Given the description of an element on the screen output the (x, y) to click on. 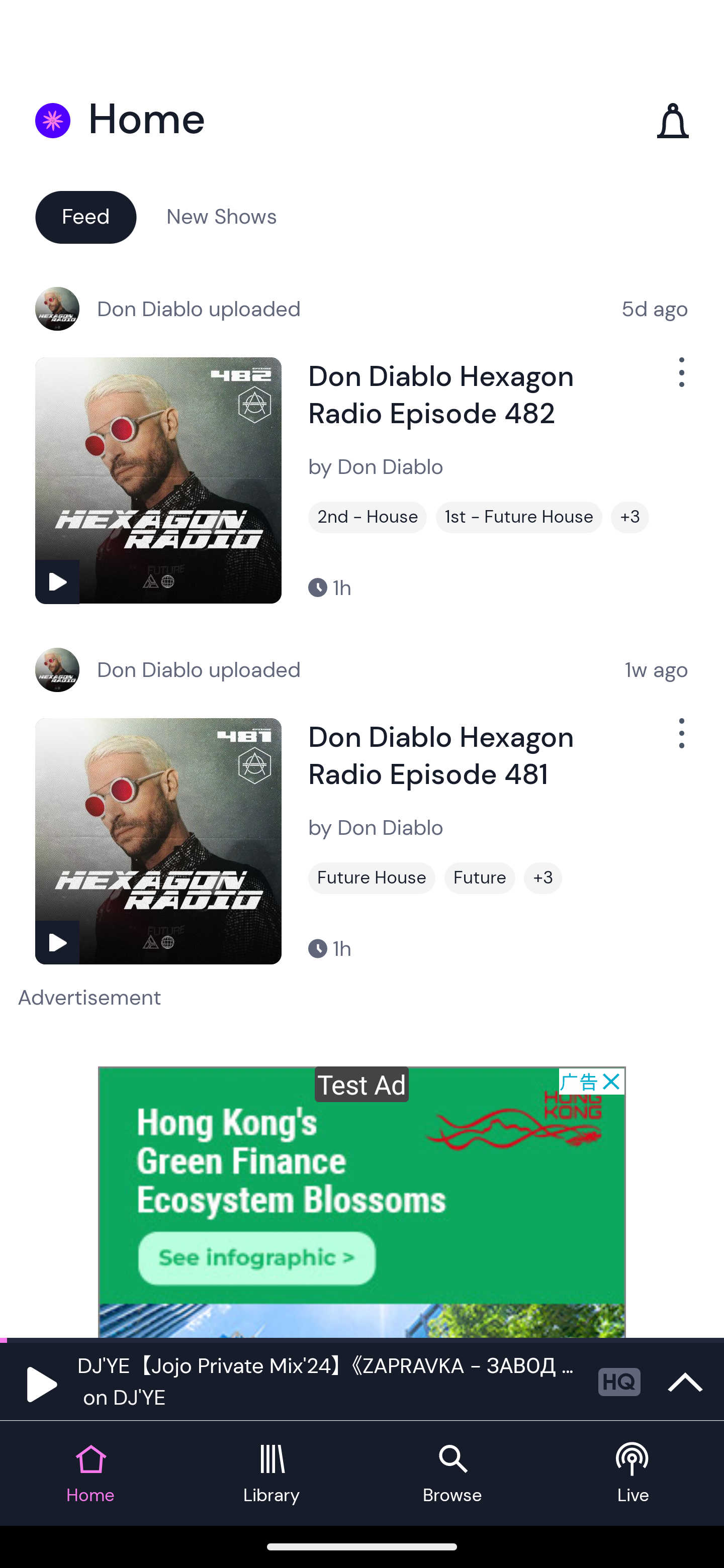
Feed (85, 216)
New Shows (221, 216)
Show Options Menu Button (679, 379)
2nd - House (367, 517)
1st - Future House (518, 517)
Show Options Menu Button (679, 740)
Future House (371, 877)
Future (479, 877)
Advertisement (361, 1201)
Home tab Home (90, 1473)
Library tab Library (271, 1473)
Browse tab Browse (452, 1473)
Live tab Live (633, 1473)
